Given the description of an element on the screen output the (x, y) to click on. 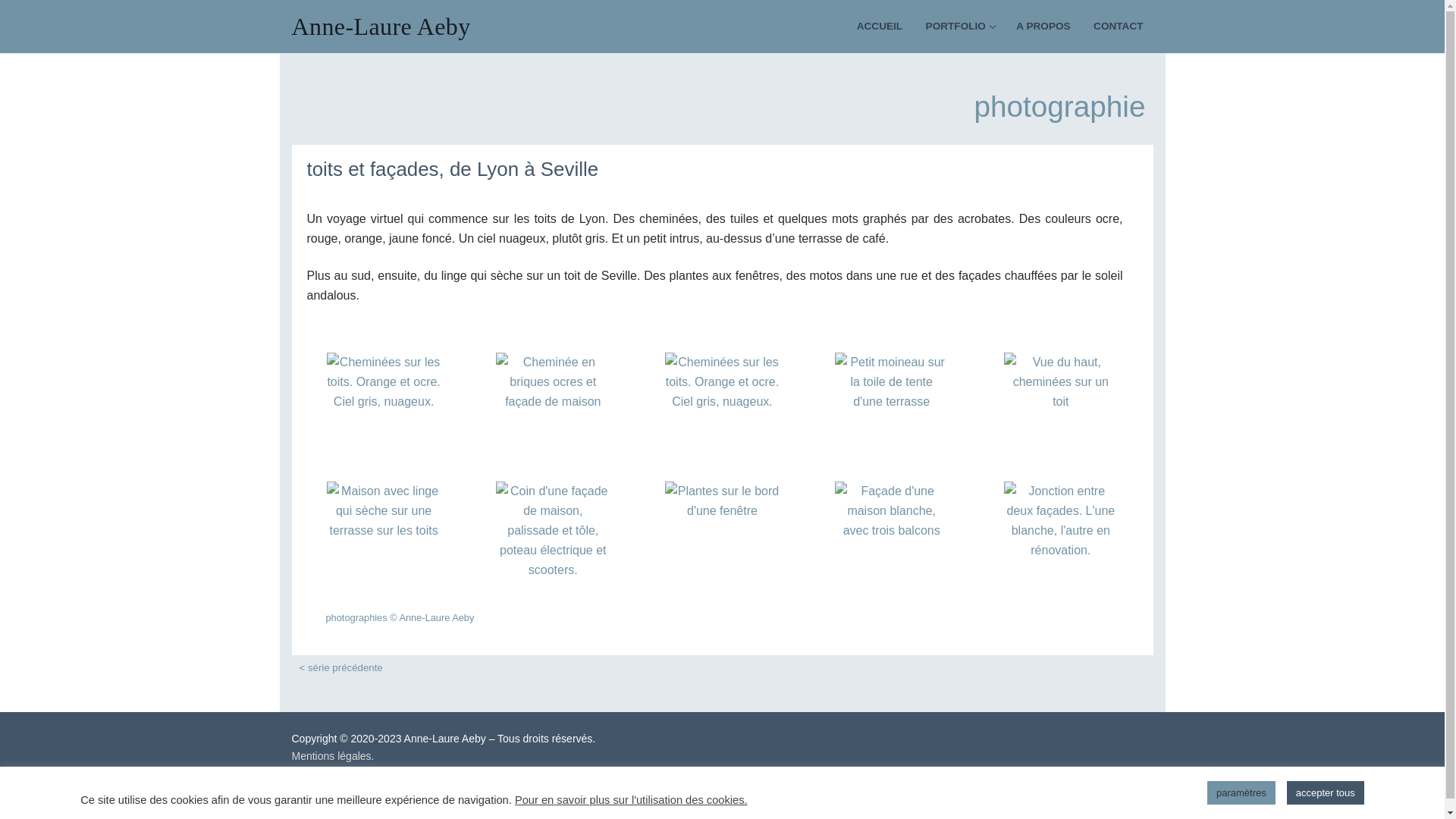
Pour en savoir plus sur l'utilisation des cookies. Element type: text (630, 799)
photographie Element type: text (1059, 106)
CONTACT Element type: text (1117, 26)
accepter tous Element type: text (1325, 792)
Customify Element type: text (377, 773)
PORTFOLIO
  Element type: text (959, 26)
Privacy Policy Element type: text (519, 803)
A PROPOS Element type: text (1042, 26)
Anne-Laure Aeby Element type: text (380, 26)
ACCUEIL Element type: text (879, 26)
Terms of Service Element type: text (595, 803)
